Given the description of an element on the screen output the (x, y) to click on. 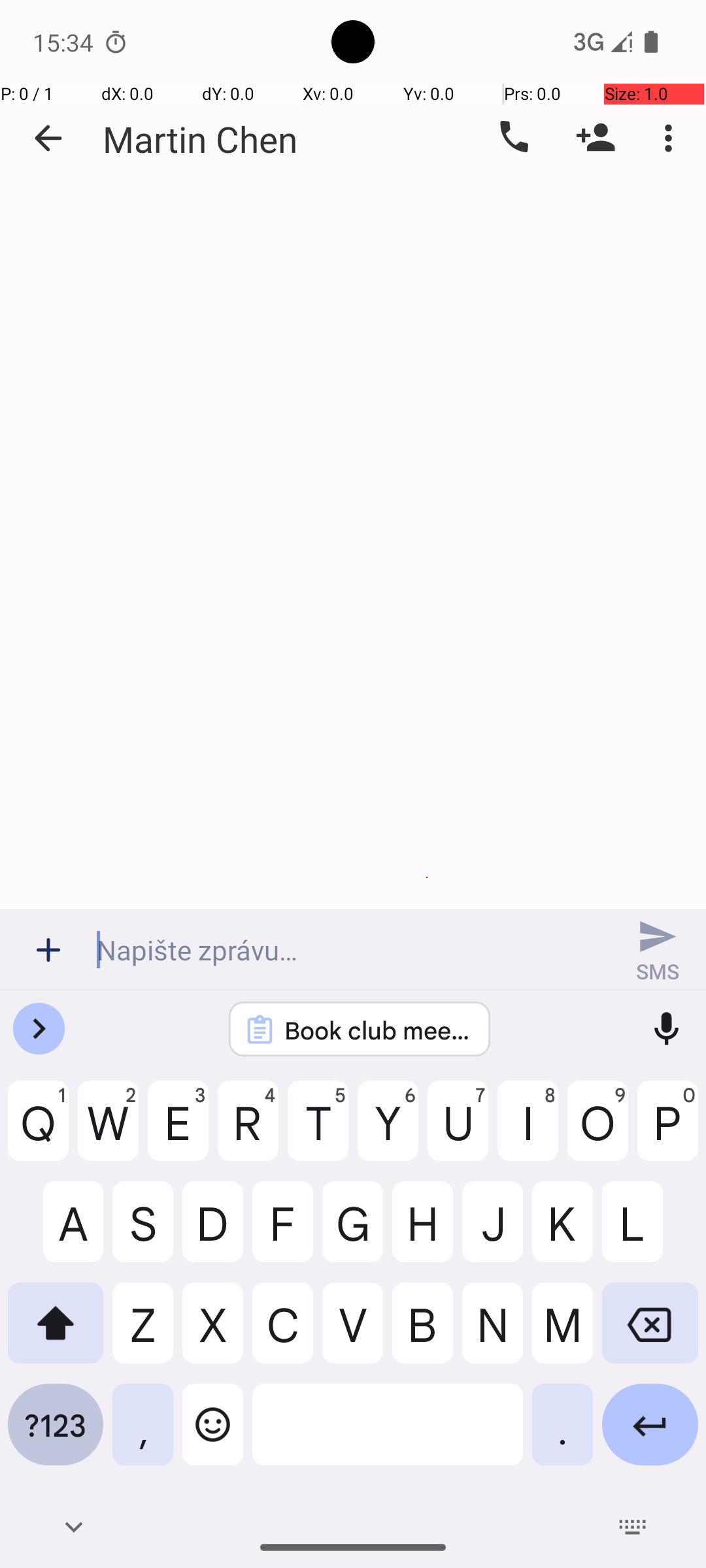
Zpět Element type: android.widget.ImageButton (48, 138)
Martin Chen Element type: android.widget.TextView (200, 138)
Vytočit číslo Element type: android.widget.Button (512, 137)
Přidat osobu Element type: android.widget.Button (595, 137)
Příloha Element type: android.widget.ImageView (48, 949)
Napište zprávu… Element type: android.widget.EditText (352, 949)
